Given the description of an element on the screen output the (x, y) to click on. 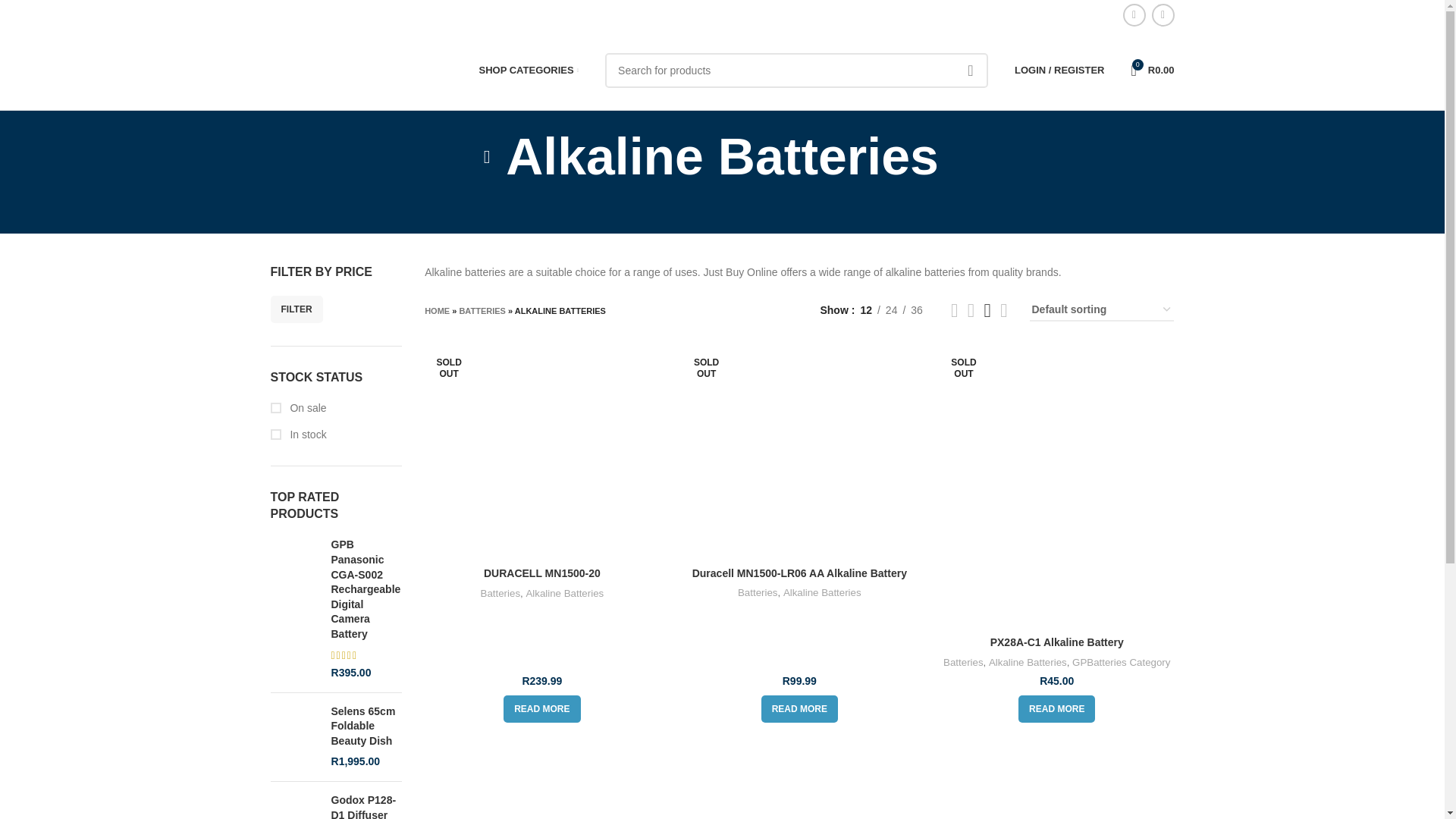
Shopping cart (1151, 69)
Godox P128-D1 Diffuser for Parabolic 128 Reflector (293, 806)
Selens 65cm Foldable Beauty Dish (365, 726)
Search for products (796, 70)
Godox P128-D1 Diffuser for Parabolic 128 Reflector (365, 806)
SHOP CATEGORIES (529, 69)
My account (1059, 69)
